Given the description of an element on the screen output the (x, y) to click on. 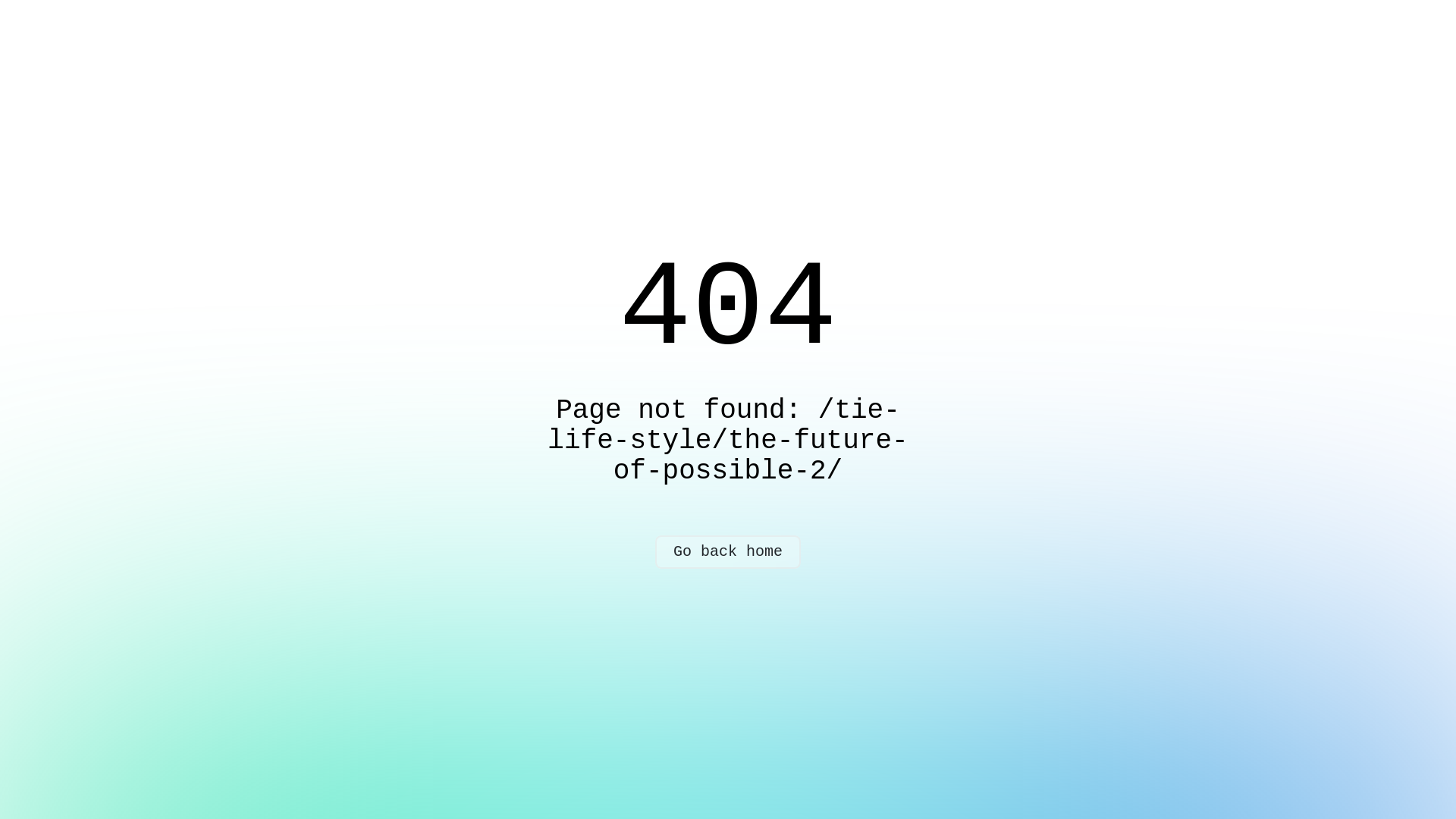
Go back home Element type: text (727, 551)
